Given the description of an element on the screen output the (x, y) to click on. 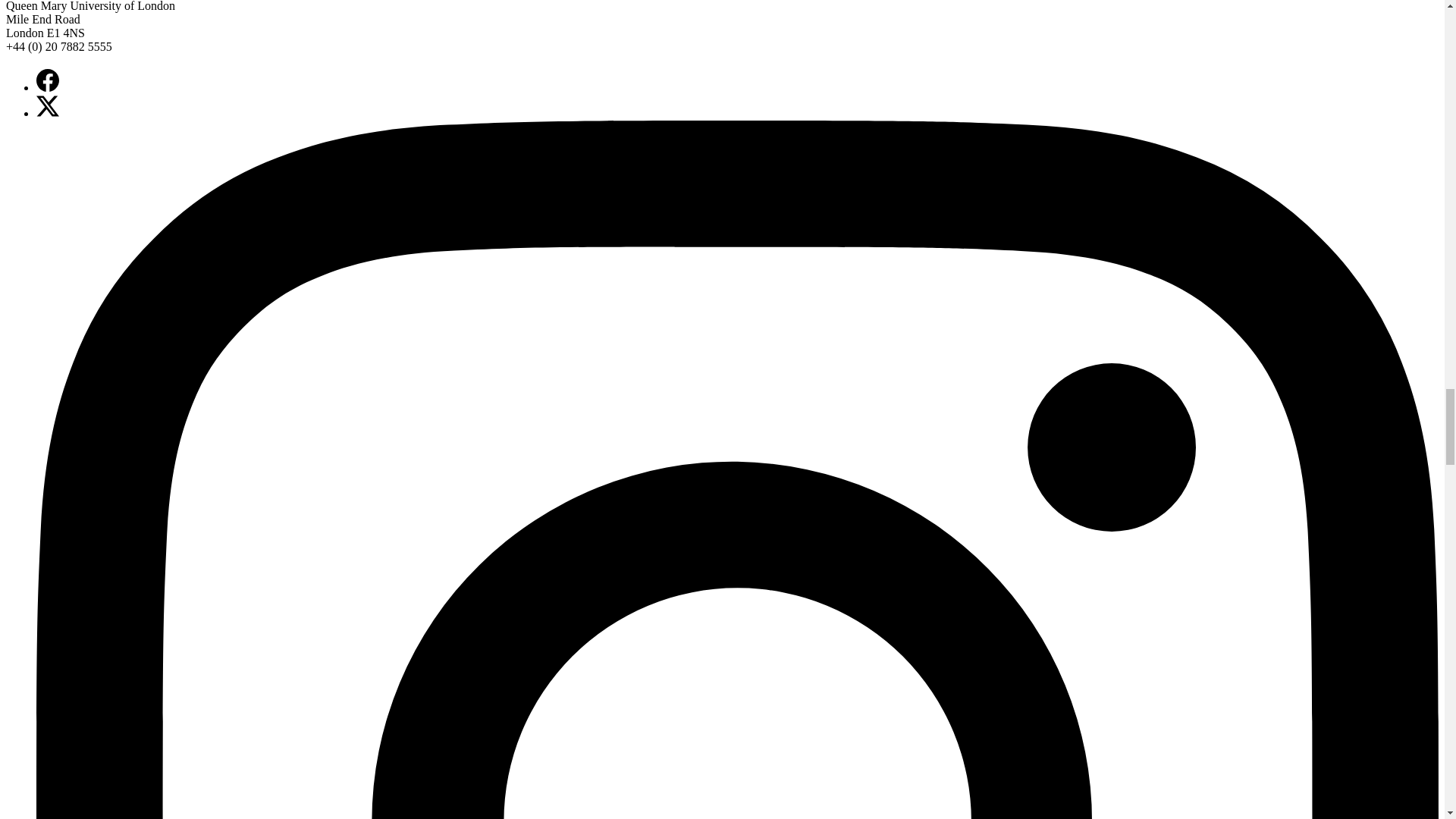
Facebook (47, 79)
Twitter X (47, 106)
